Given the description of an element on the screen output the (x, y) to click on. 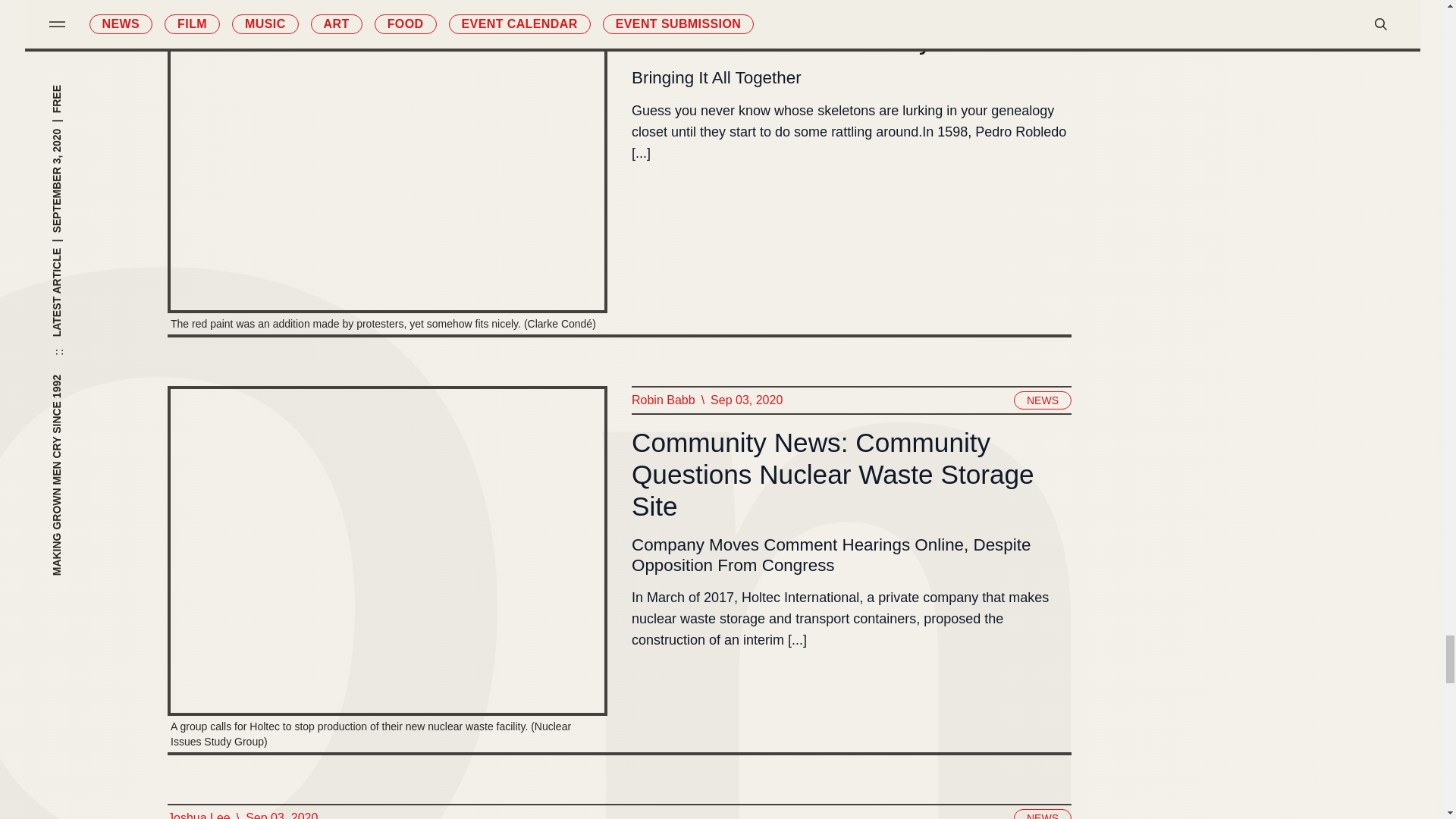
NEWS (1041, 3)
Carolyn Carlson (673, 4)
NEWS (1041, 400)
Robin Babb (662, 400)
